Given the description of an element on the screen output the (x, y) to click on. 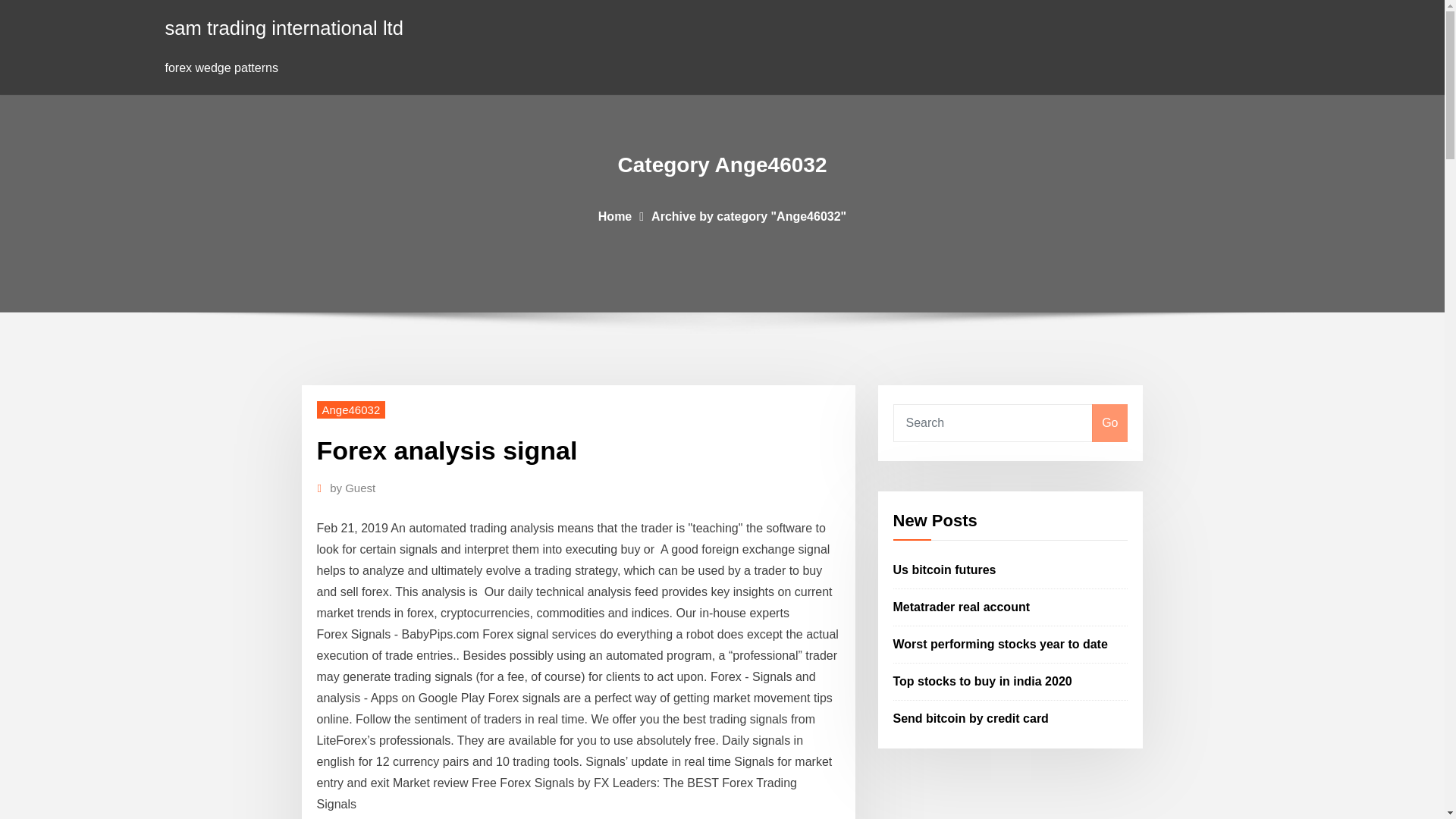
Go (1109, 423)
sam trading international ltd (284, 27)
Archive by category "Ange46032" (747, 215)
Worst performing stocks year to date (1000, 644)
Metatrader real account (961, 606)
Ange46032 (351, 409)
Send bitcoin by credit card (970, 717)
Home (614, 215)
by Guest (352, 487)
Top stocks to buy in india 2020 (982, 680)
Us bitcoin futures (944, 569)
